Given the description of an element on the screen output the (x, y) to click on. 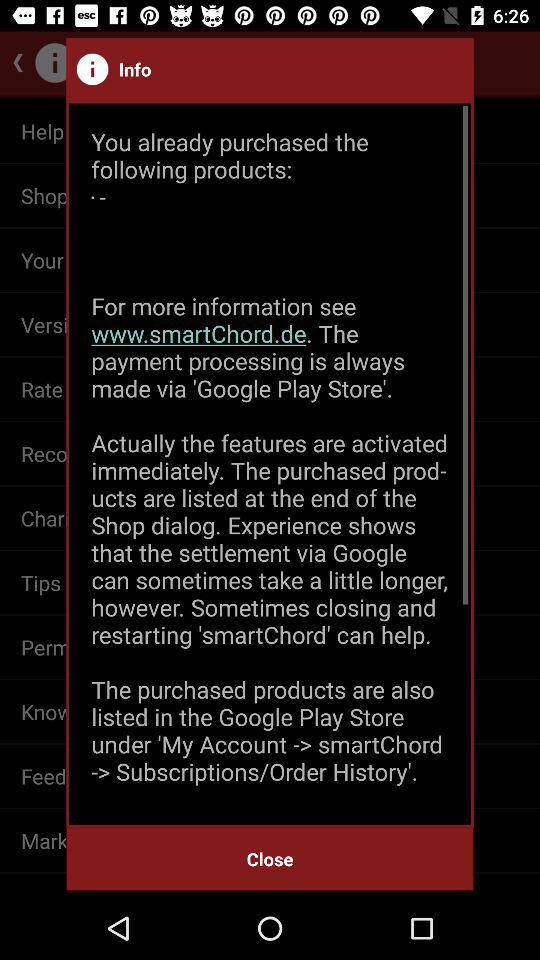
press the item above the close (269, 464)
